Given the description of an element on the screen output the (x, y) to click on. 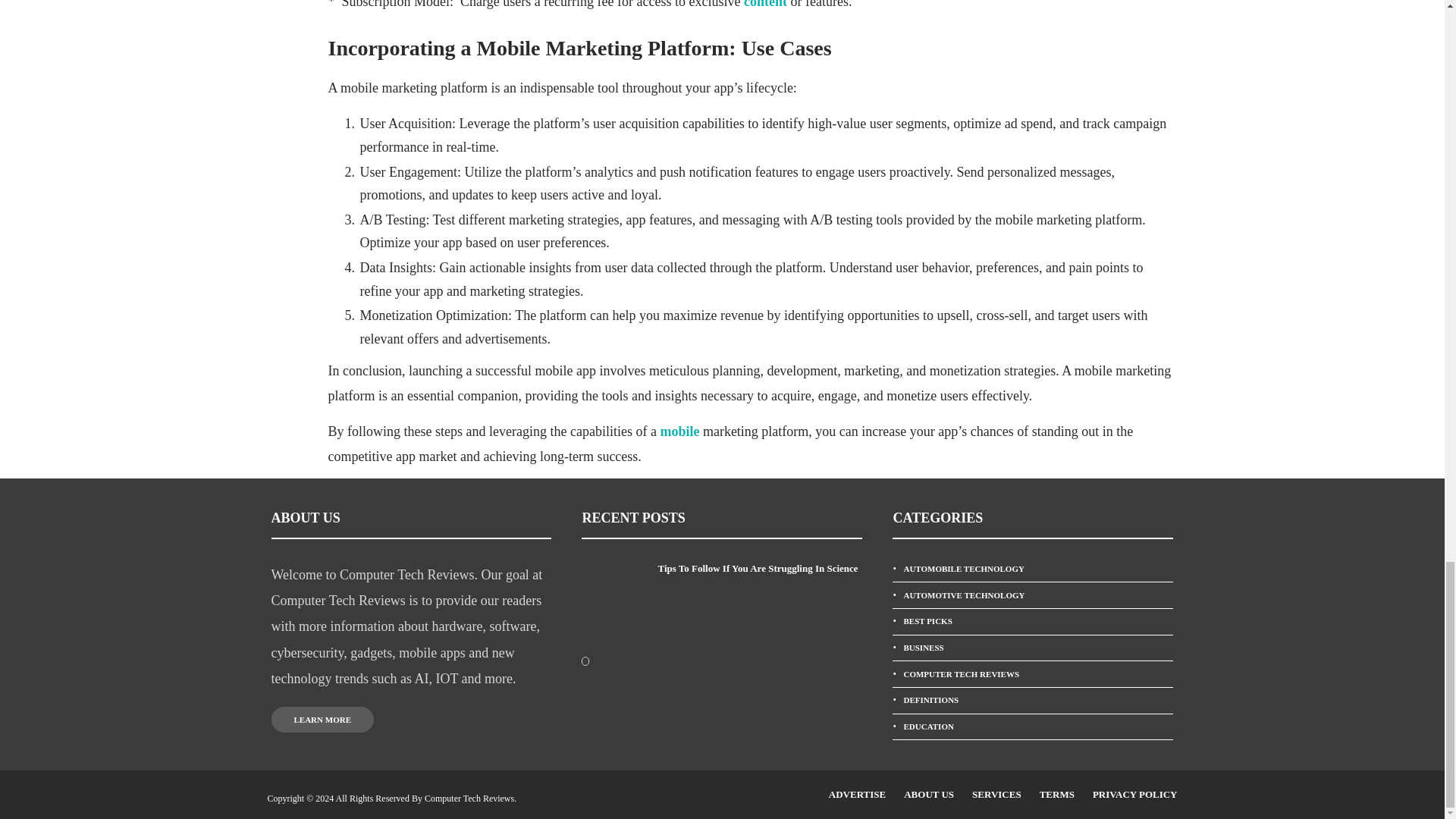
mobile (681, 431)
LEARN MORE (322, 719)
Tips To Follow If You Are Struggling In Science (759, 568)
AUTOMOBILE TECHNOLOGY (1032, 568)
content (765, 4)
